Given the description of an element on the screen output the (x, y) to click on. 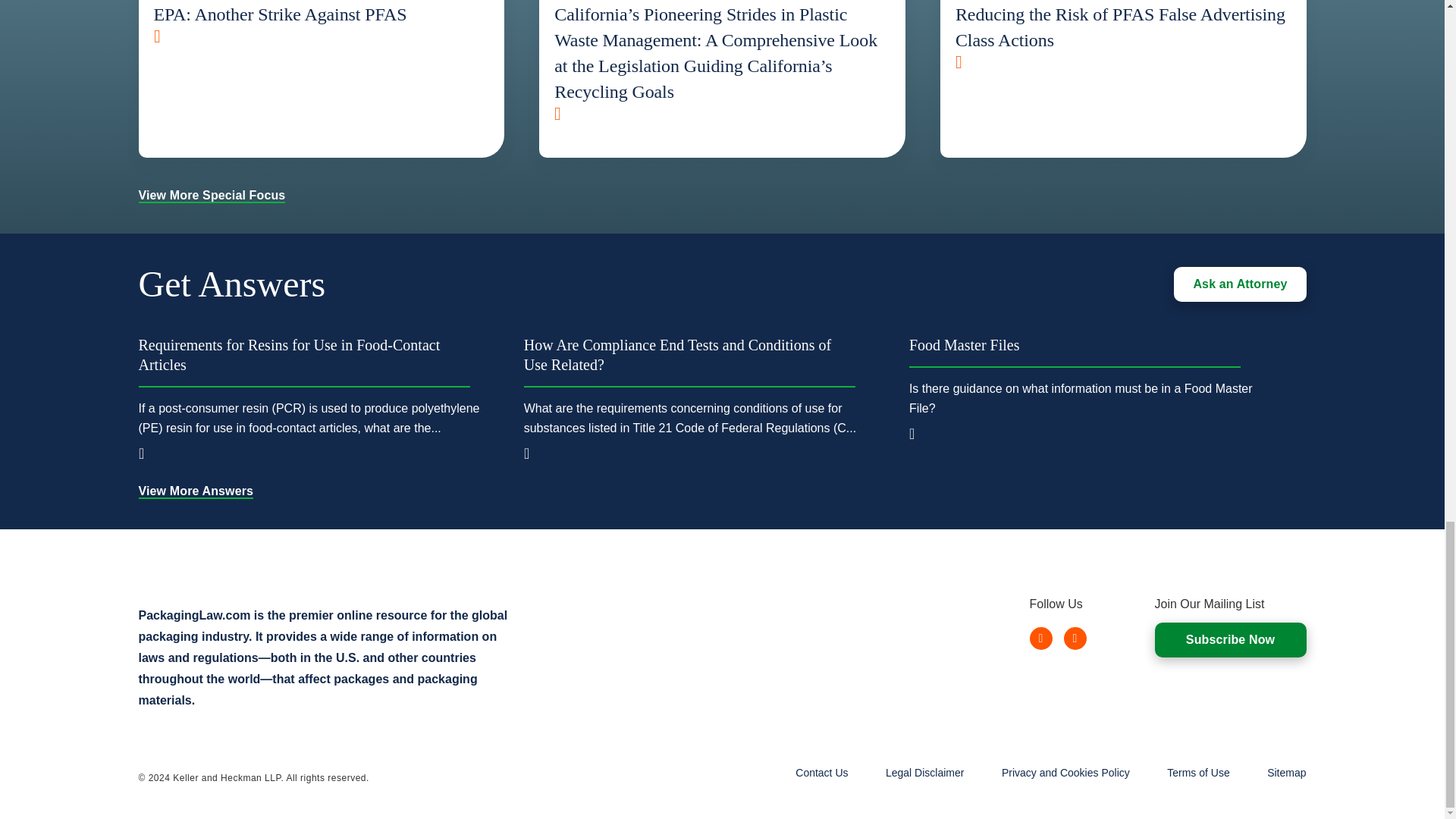
Linkedin (1040, 638)
Food Master Files (1074, 350)
Twitter (1074, 638)
Reducing the Risk of PFAS False Advertising Class Actions (1123, 33)
Requirements for Resins for Use in Food-Contact Articles (303, 360)
Ask an Attorney (1239, 284)
Contact Us (820, 772)
EPA: Another Strike Against PFAS (320, 21)
View More Answers (195, 490)
View More Special Focus (211, 195)
